Given the description of an element on the screen output the (x, y) to click on. 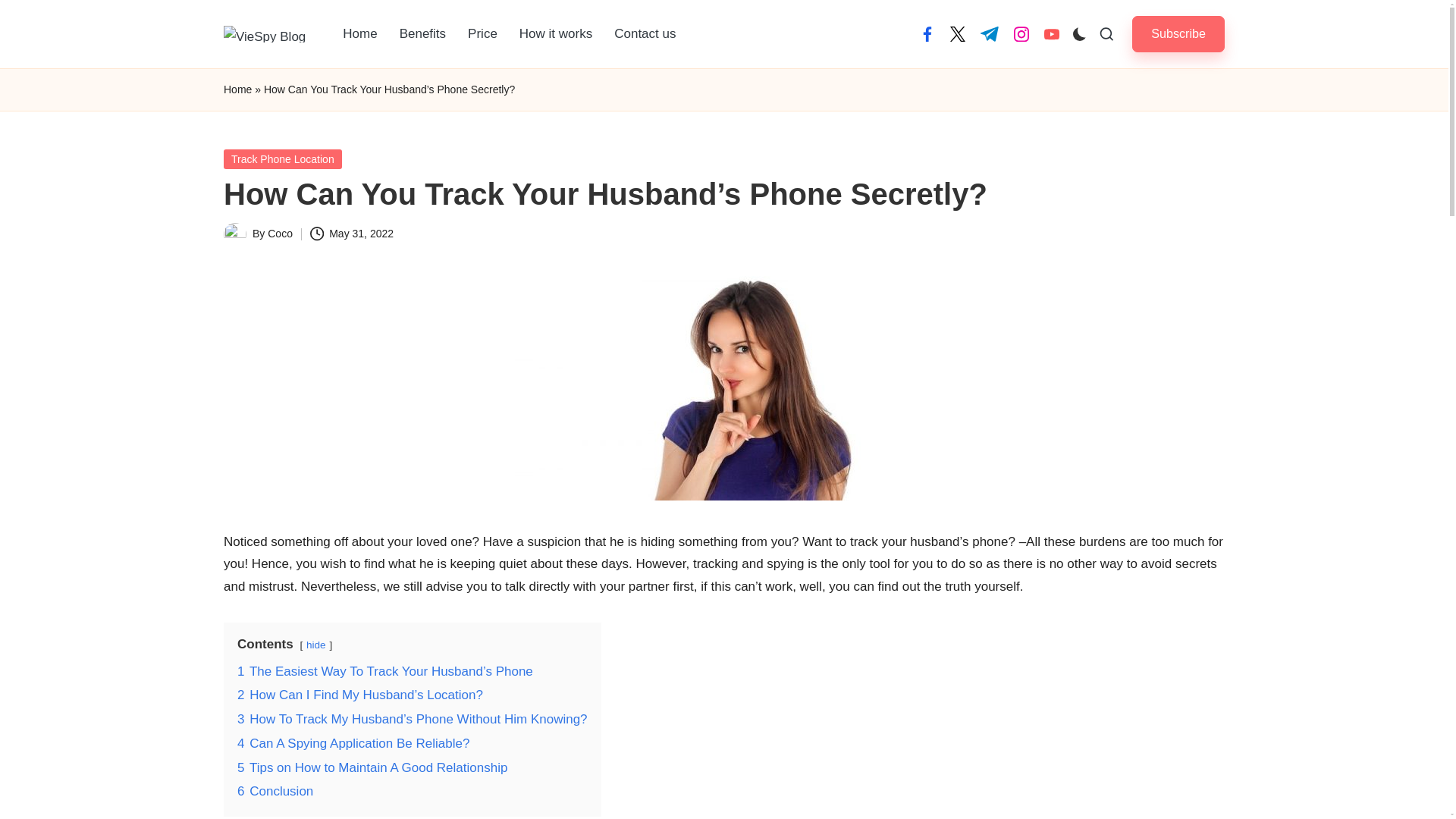
twitter.com (957, 33)
facebook.com (927, 33)
Contact us (644, 33)
Track Phone Location (283, 158)
Home (359, 33)
4 Can A Spying Application Be Reliable? (352, 743)
t.me (989, 33)
hide (315, 644)
6 Conclusion (275, 790)
Price (482, 33)
